Given the description of an element on the screen output the (x, y) to click on. 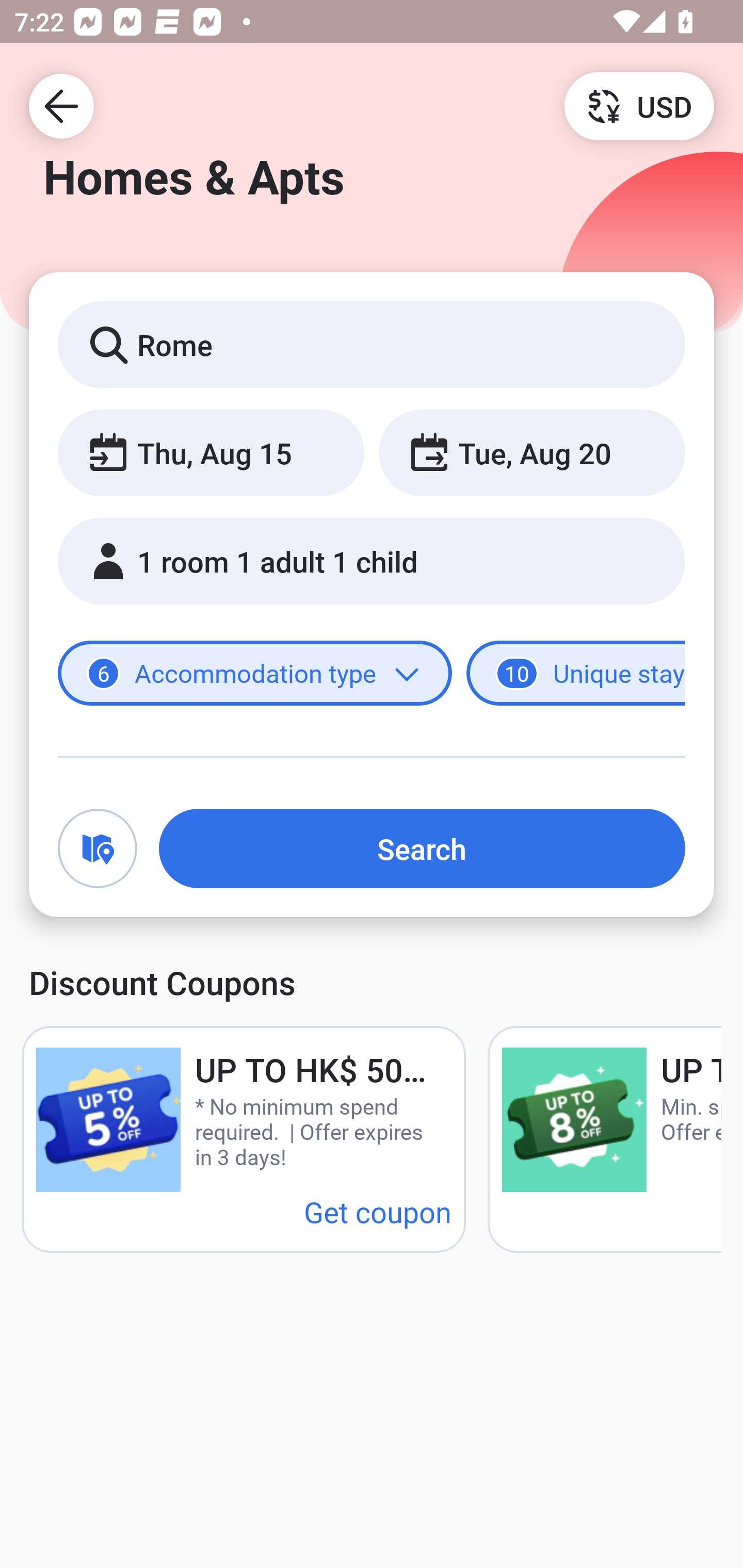
USD (639, 105)
Rome (371, 344)
Thu, Aug 15 (210, 452)
Tue, Aug 20 (531, 452)
1 room 1 adult 1 child (371, 561)
6 Accommodation type (254, 673)
10 Unique stays (575, 673)
Search (422, 848)
Get coupon (377, 1211)
